Given the description of an element on the screen output the (x, y) to click on. 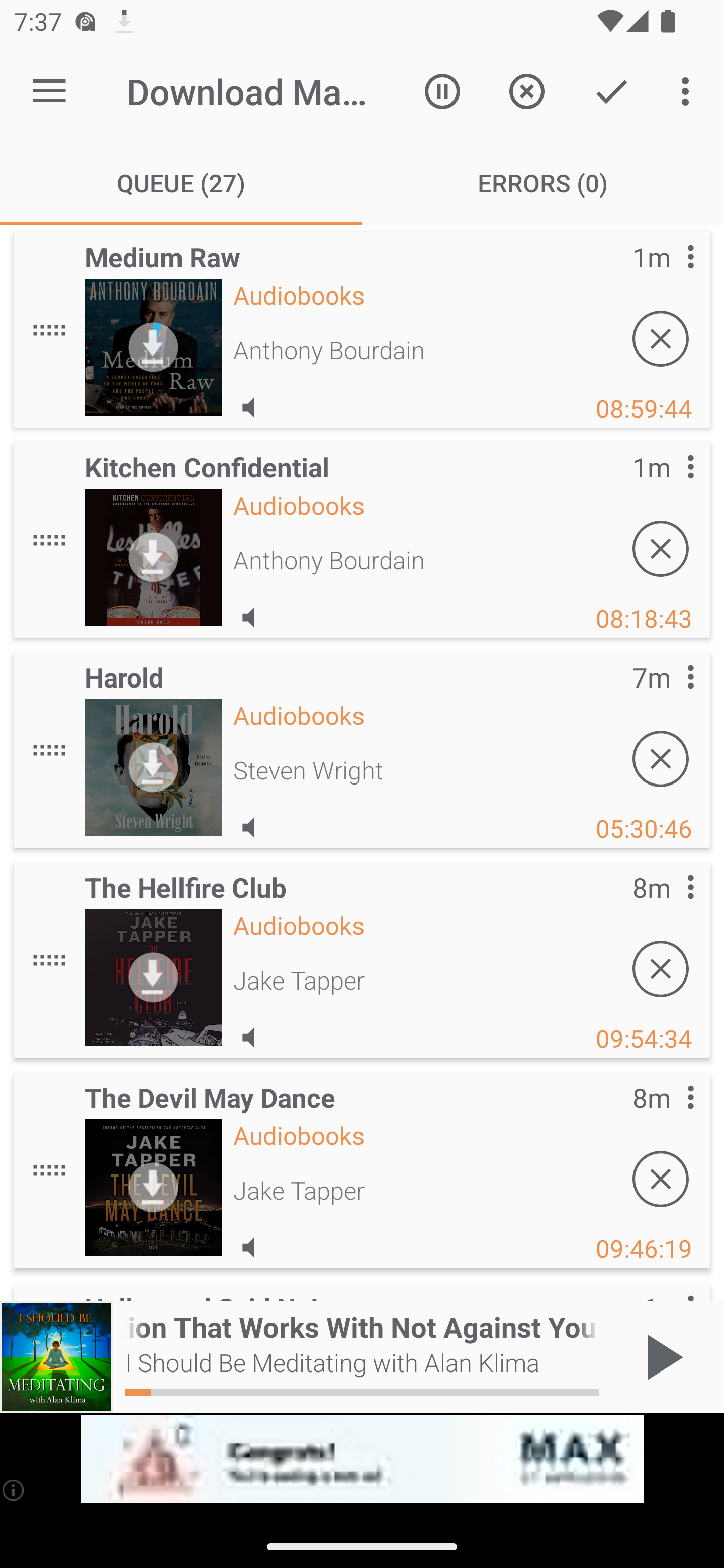
Open navigation sidebar (49, 91)
Pause downloads... (442, 90)
Cancel Downloads (526, 90)
Action Mode (611, 90)
More options (688, 90)
Errors (0) ERRORS (0) (543, 183)
Contextual menu (668, 276)
Medium Raw (153, 347)
Cancel download (660, 338)
Contextual menu (668, 486)
Kitchen Confidential (153, 557)
Cancel download (660, 548)
Contextual menu (668, 696)
Harold (153, 767)
Cancel download (660, 758)
Contextual menu (668, 906)
The Hellfire Club (153, 977)
Cancel download (660, 968)
Contextual menu (668, 1116)
The Devil May Dance (153, 1187)
Cancel download (660, 1178)
Play / Pause (660, 1356)
app-monetization (362, 1459)
(i) (14, 1489)
